Given the description of an element on the screen output the (x, y) to click on. 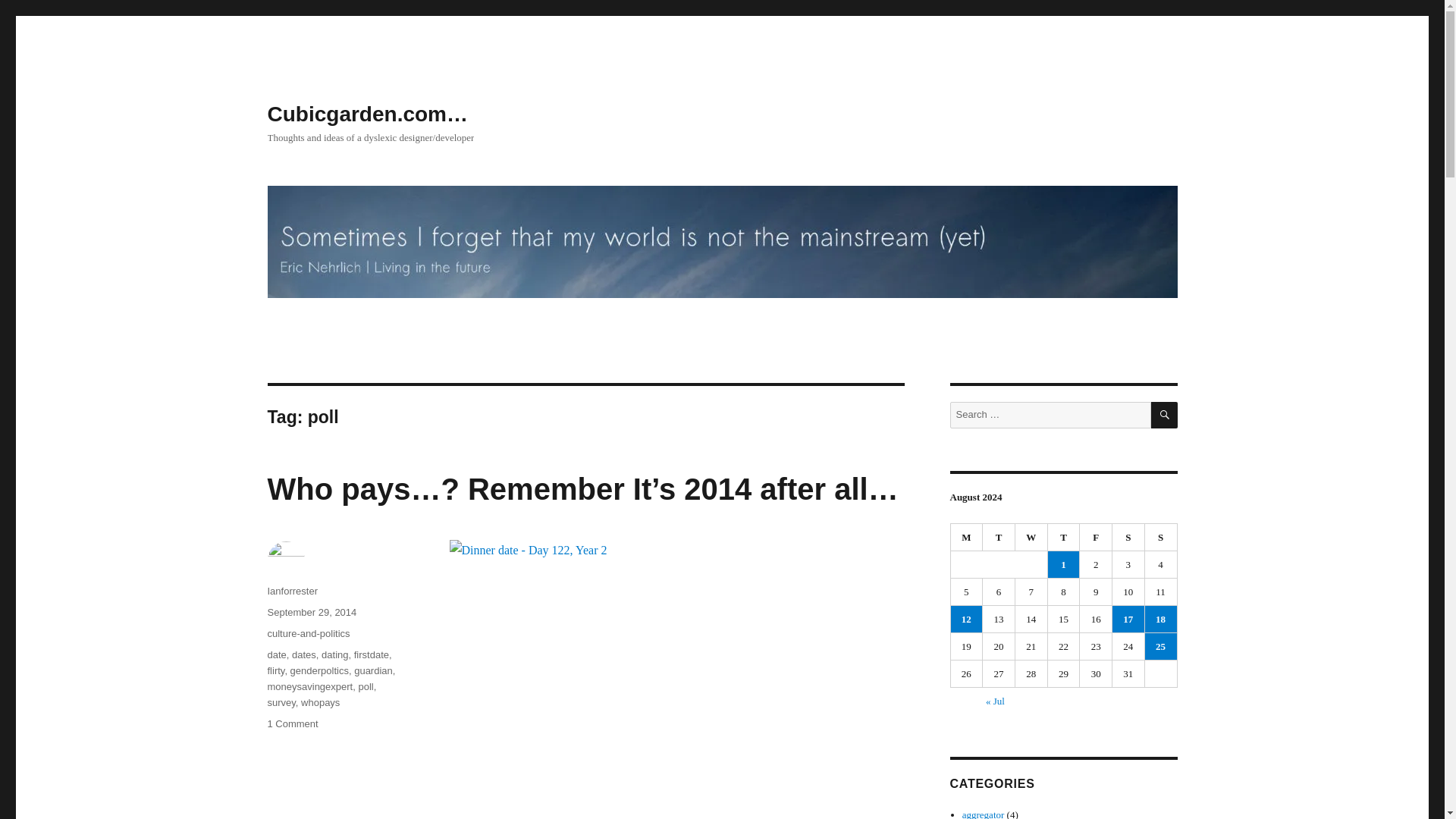
Saturday (1128, 537)
culture-and-politics (307, 633)
Dinner date - Day 122, Year 2 by Matthew, on Flickr (676, 679)
dating (334, 654)
moneysavingexpert (309, 686)
flirty (274, 670)
Wednesday (1031, 537)
Friday (1096, 537)
Tuesday (998, 537)
September 29, 2014 (311, 612)
